Given the description of an element on the screen output the (x, y) to click on. 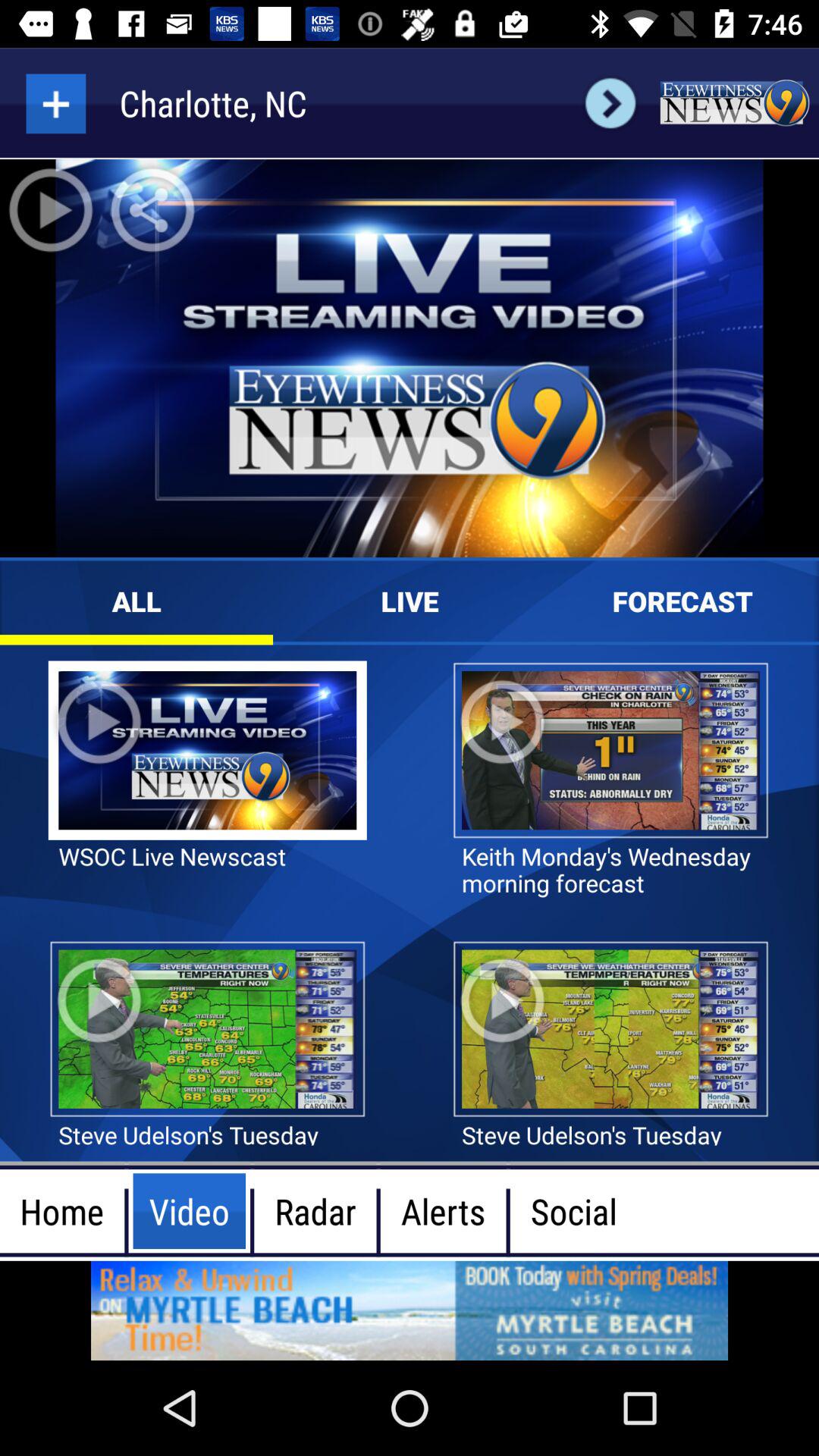
next the page (610, 103)
